Given the description of an element on the screen output the (x, y) to click on. 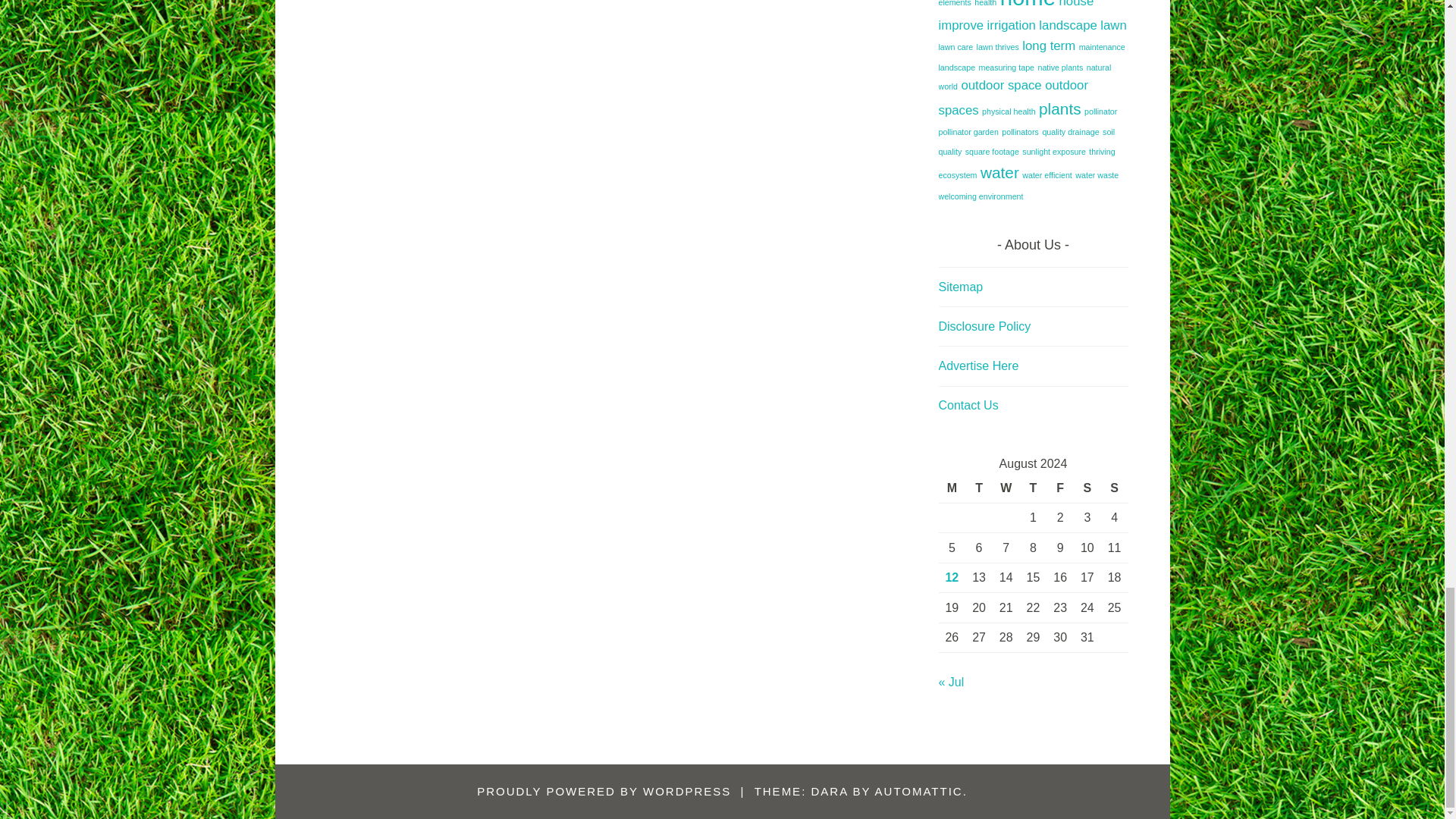
Thursday (1033, 488)
Monday (952, 488)
Tuesday (978, 488)
Saturday (1087, 488)
Wednesday (1006, 488)
Sunday (1114, 488)
Friday (1060, 488)
